Given the description of an element on the screen output the (x, y) to click on. 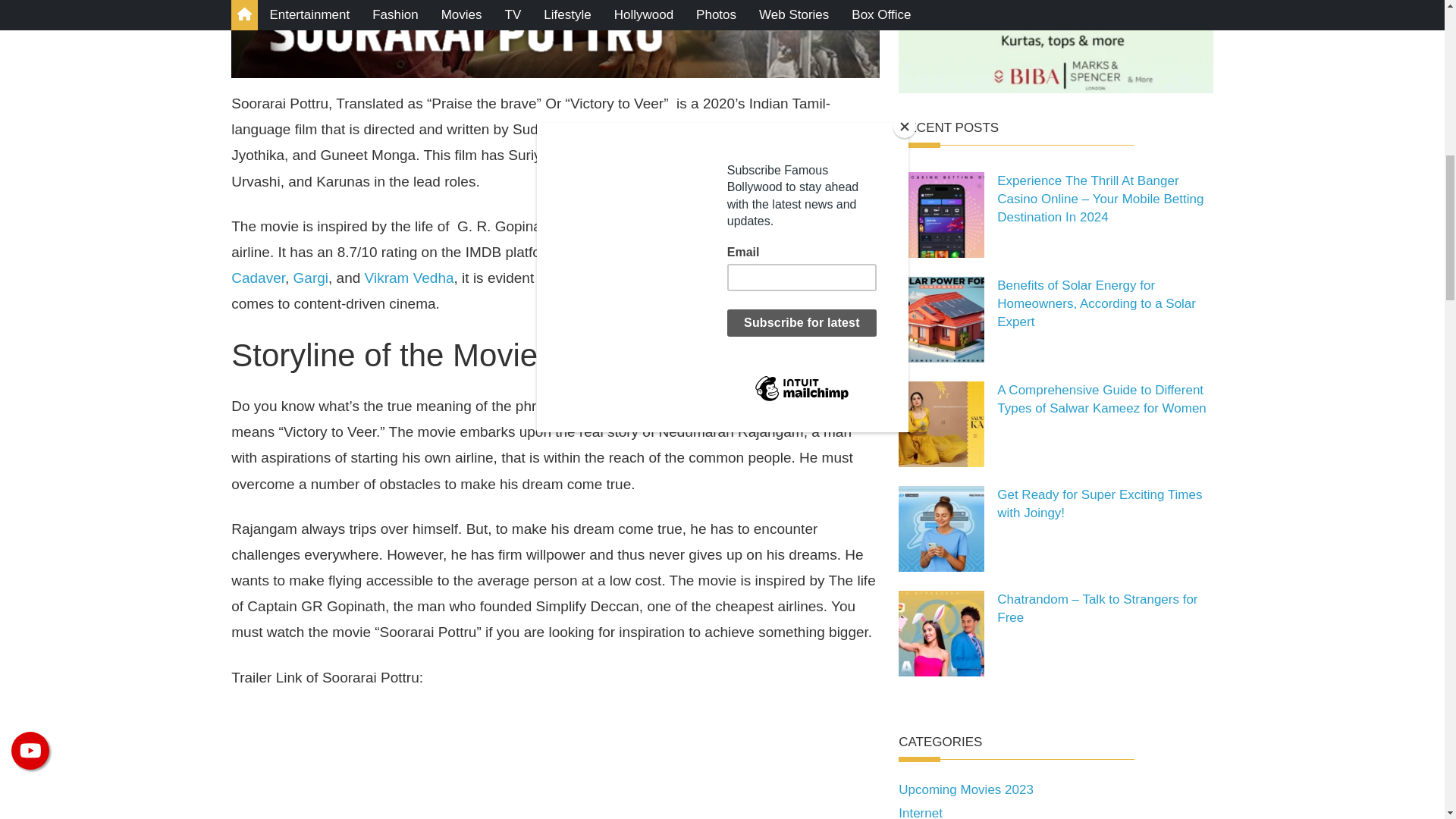
Vikram Vedha (409, 277)
Gargi (311, 277)
Cadaver (258, 277)
